Given the description of an element on the screen output the (x, y) to click on. 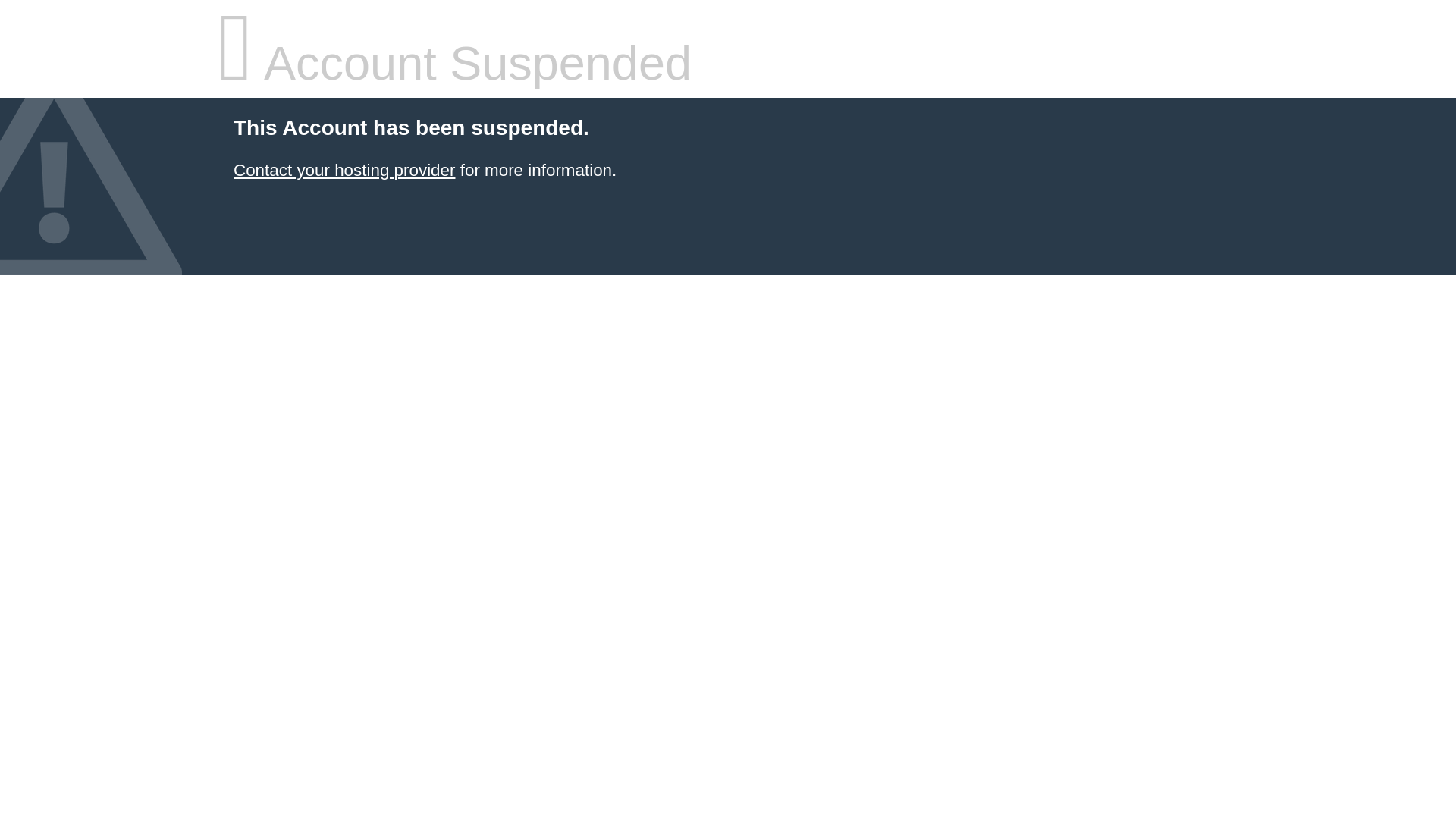
Contact your hosting provider (343, 169)
SirsteveHQ (343, 169)
